Given the description of an element on the screen output the (x, y) to click on. 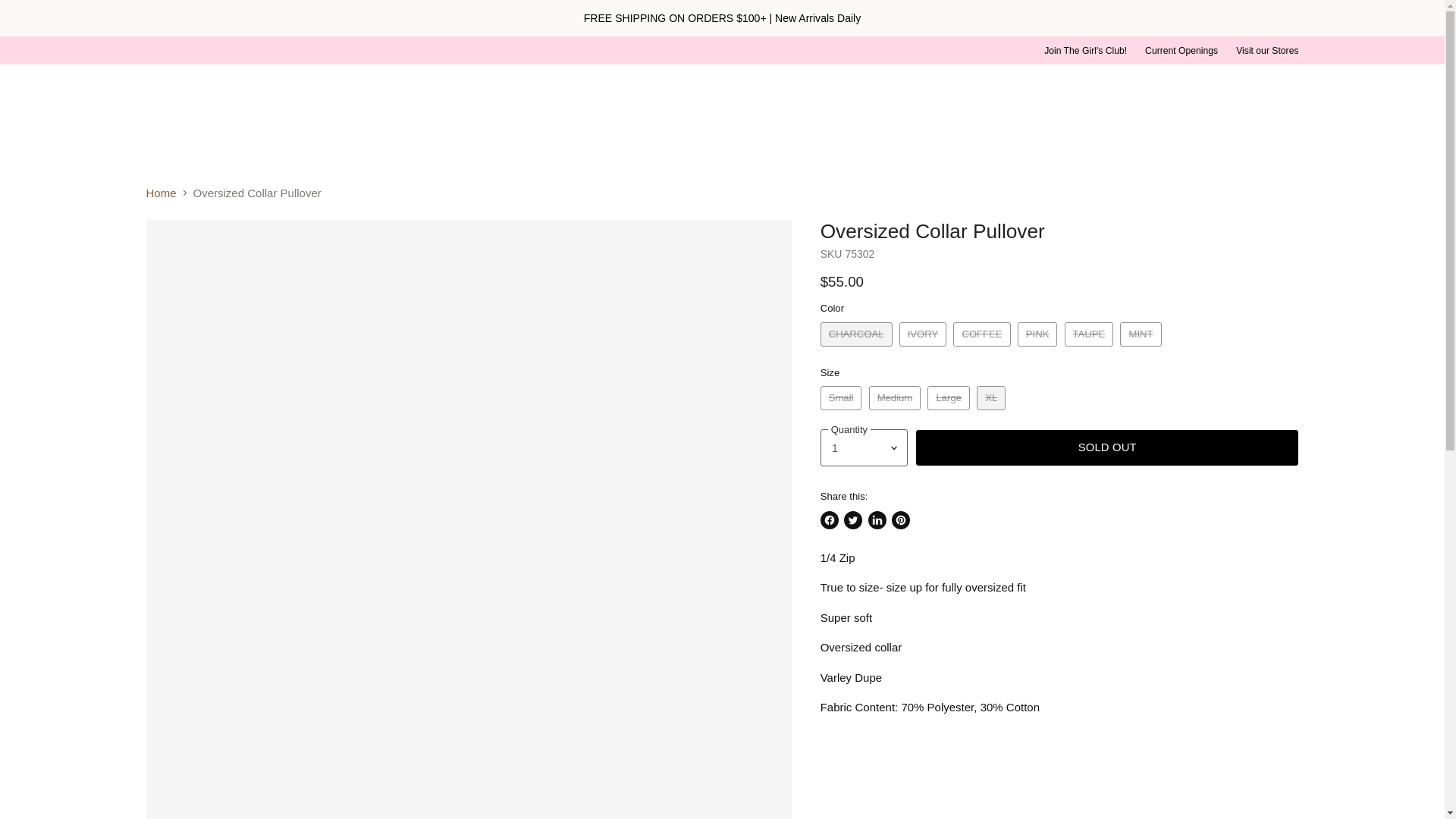
Join The Girl's Club! (1084, 50)
Current Openings (1180, 50)
Visit our Stores (1267, 50)
